Given the description of an element on the screen output the (x, y) to click on. 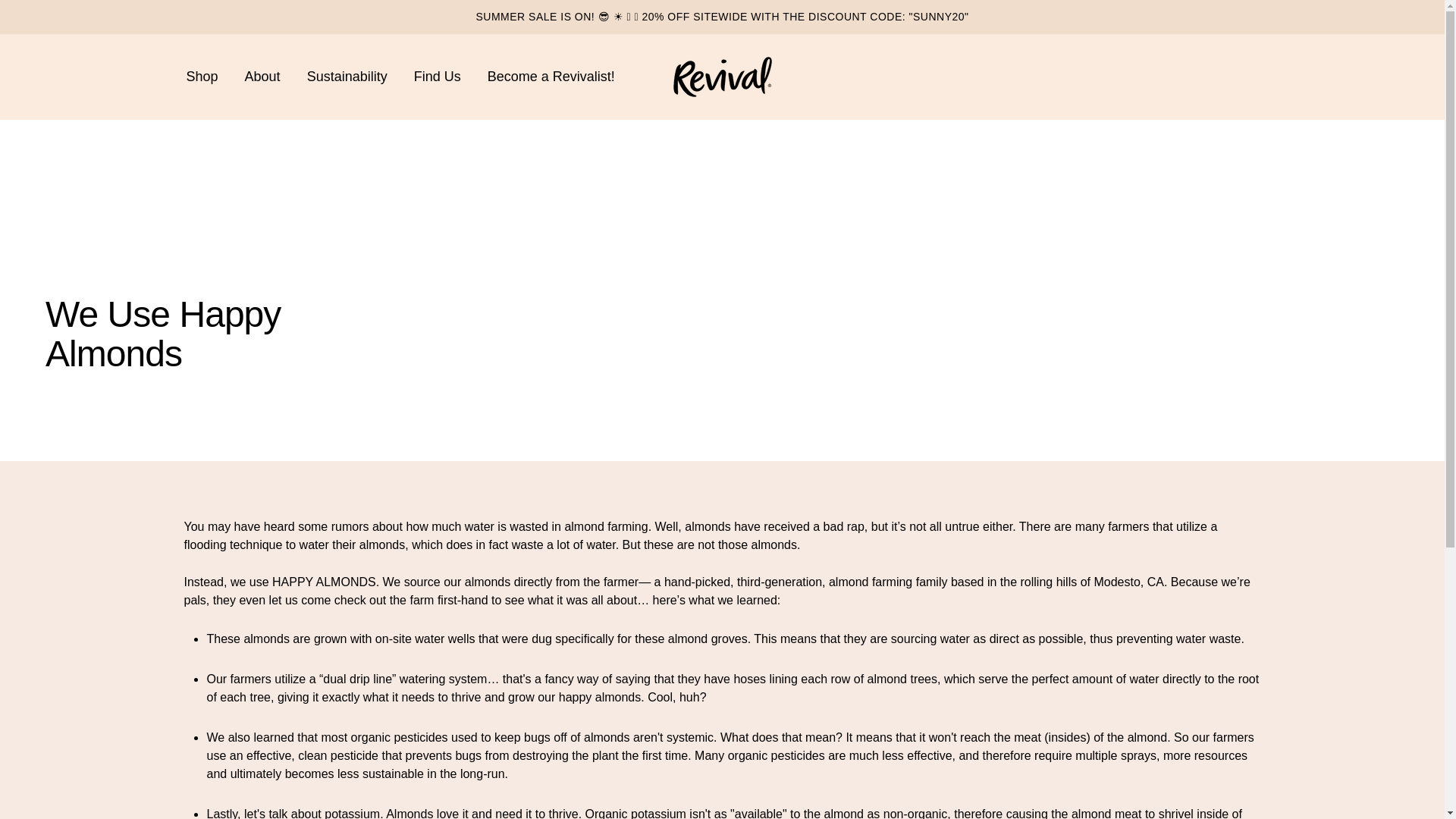
Sustainability (346, 77)
Become a Revivalist! (551, 77)
About (262, 77)
Find Us (437, 77)
Shop (201, 77)
